Given the description of an element on the screen output the (x, y) to click on. 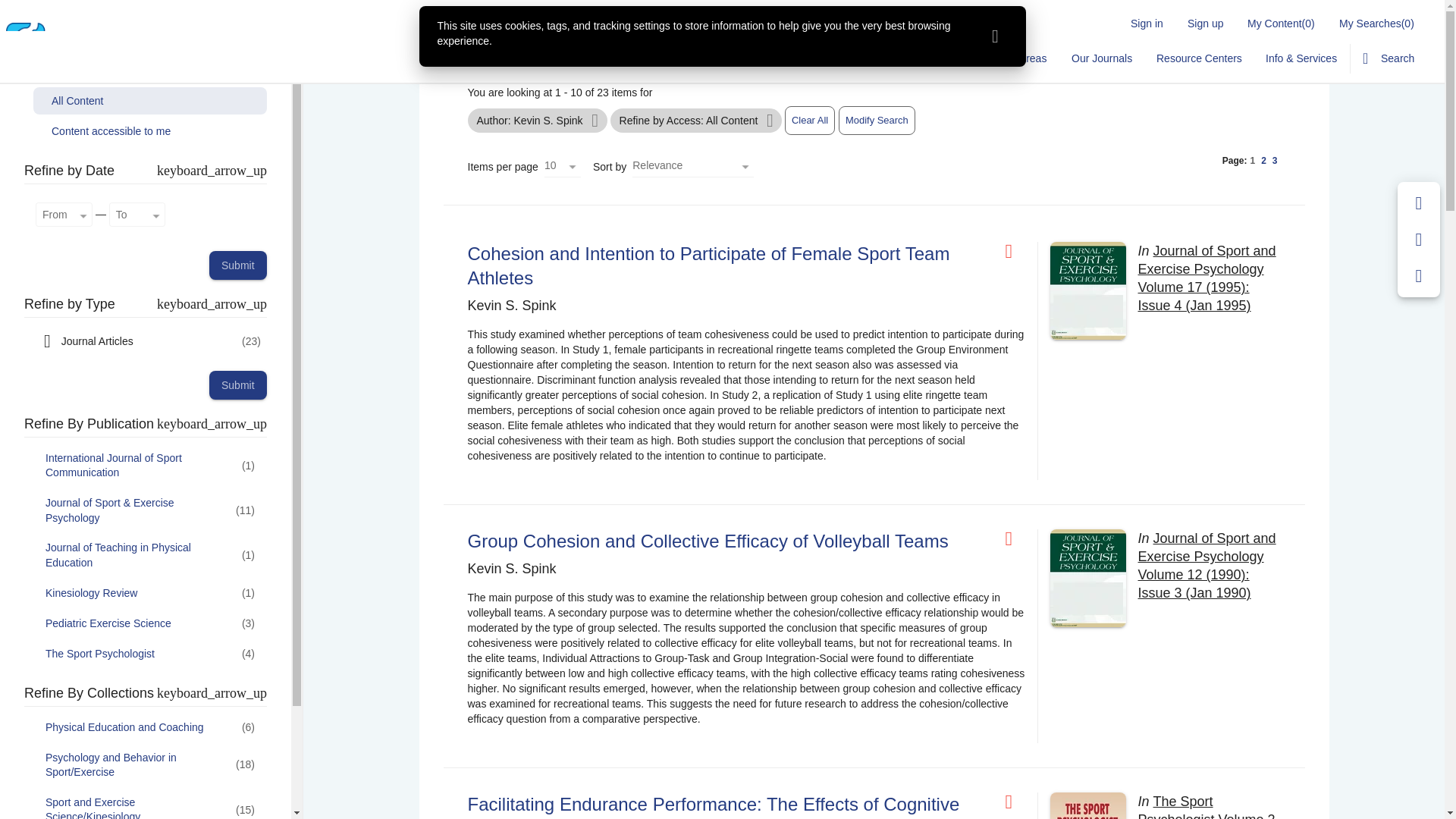
Subject Areas (1013, 58)
Jump to Content (40, 8)
Email Page (1418, 239)
Save (1418, 203)
Restricted access (1015, 251)
Our Journals (1100, 58)
Sign up (1204, 23)
Human Kinetics (158, 46)
Resource Centers (1198, 58)
Home (743, 58)
